Given the description of an element on the screen output the (x, y) to click on. 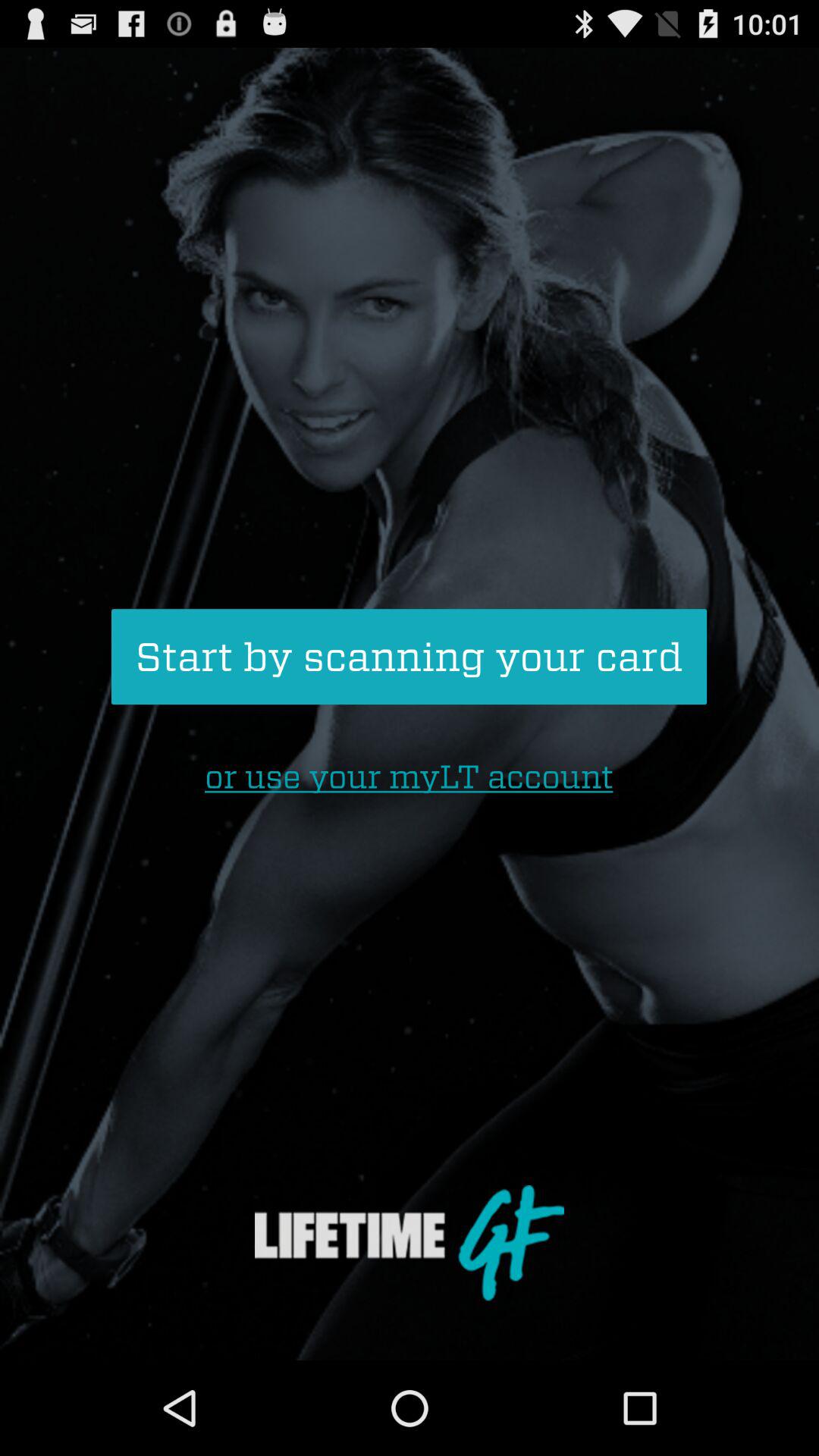
jump to start by scanning icon (408, 656)
